Given the description of an element on the screen output the (x, y) to click on. 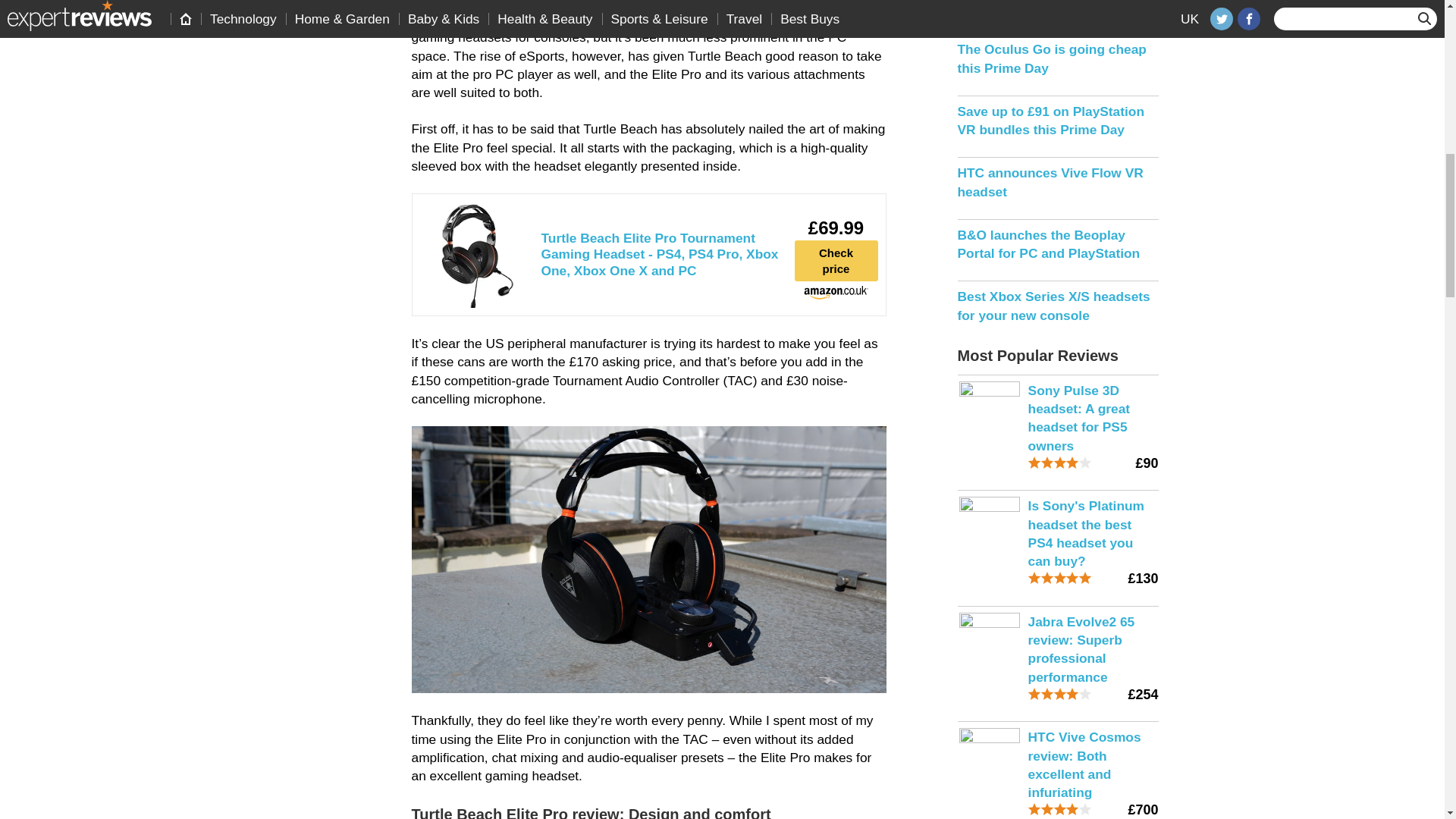
Check price (835, 260)
